Given the description of an element on the screen output the (x, y) to click on. 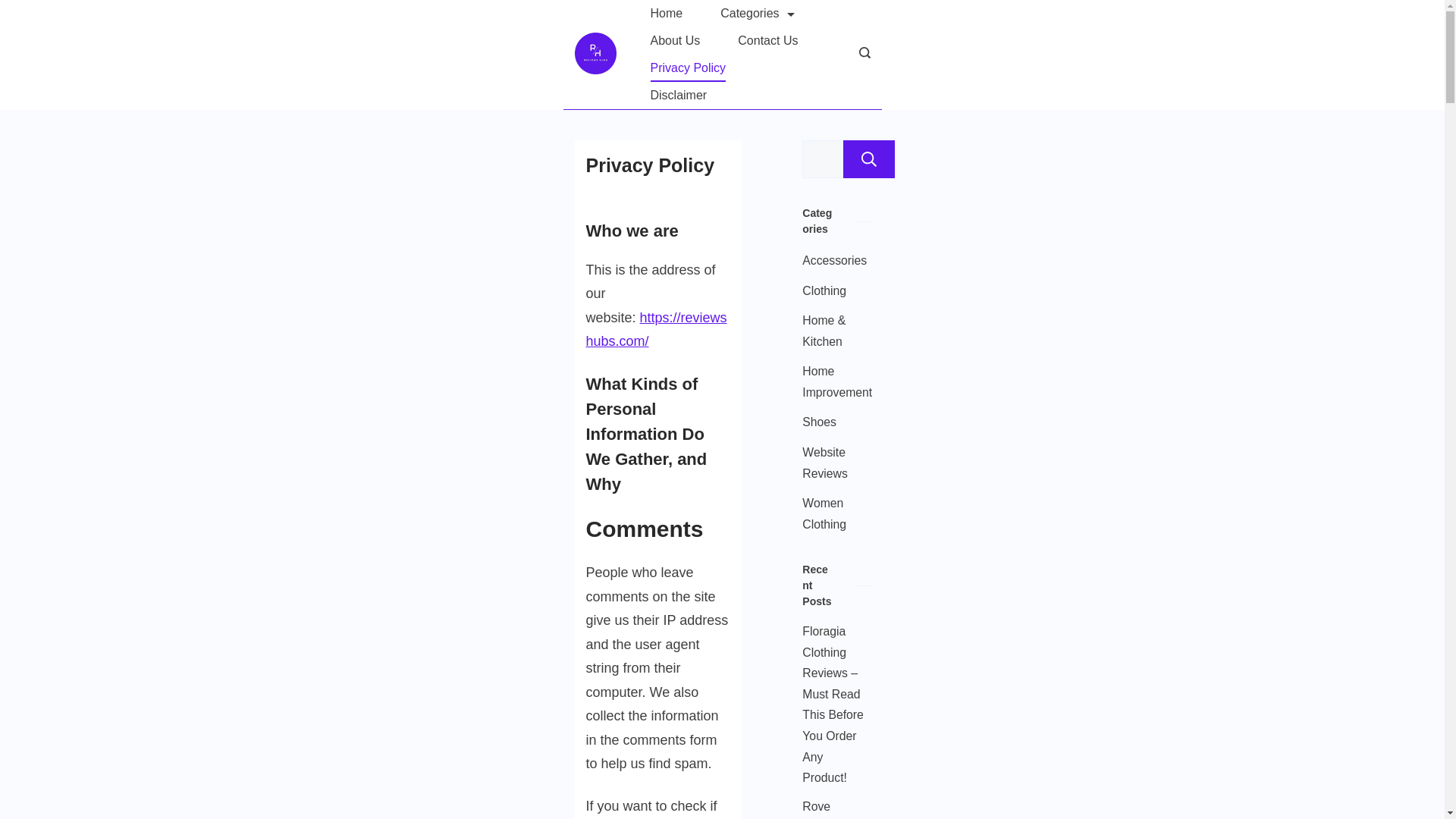
Home (665, 13)
Search (869, 159)
Accessories (834, 260)
Website Reviews (831, 463)
Clothing (823, 291)
Home Improvement (837, 381)
About Us (674, 40)
Categories (756, 13)
Shoes (818, 422)
Contact Us (767, 40)
Women Clothing (831, 513)
Disclaimer (677, 94)
Privacy Policy (687, 67)
